Given the description of an element on the screen output the (x, y) to click on. 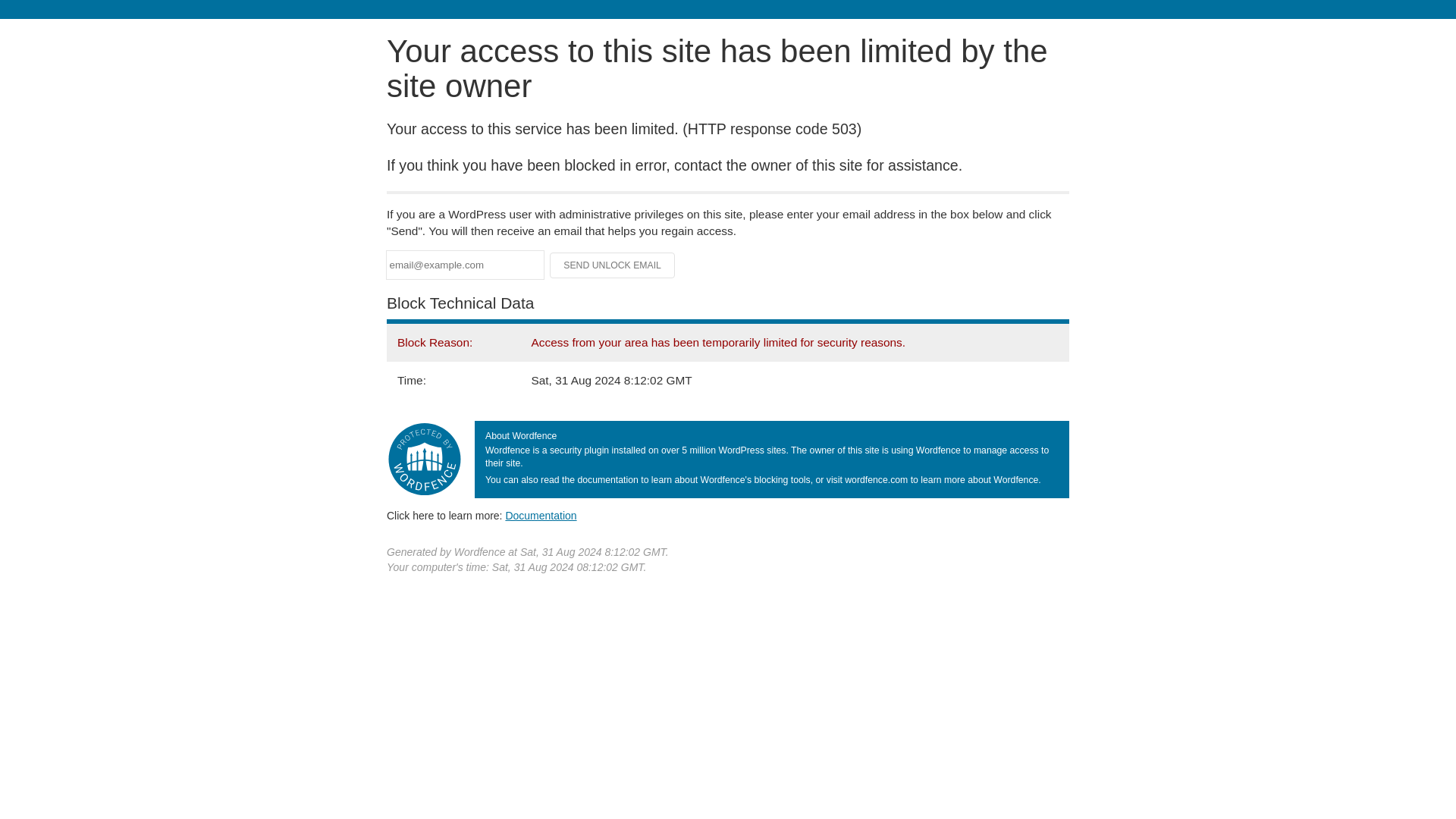
Send Unlock Email (612, 265)
Documentation (540, 515)
Send Unlock Email (612, 265)
